Given the description of an element on the screen output the (x, y) to click on. 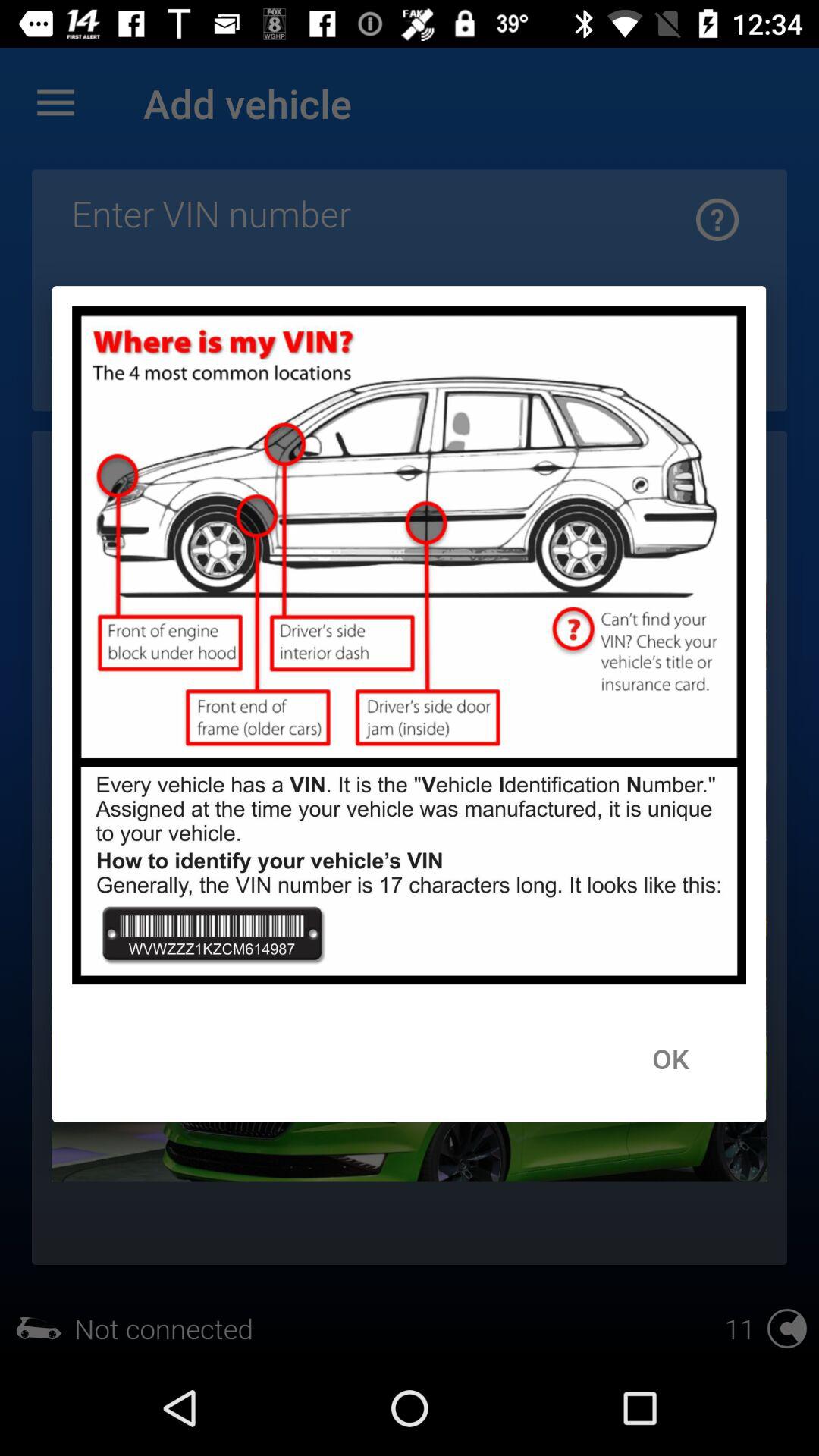
select ok at the bottom right corner (670, 1058)
